Given the description of an element on the screen output the (x, y) to click on. 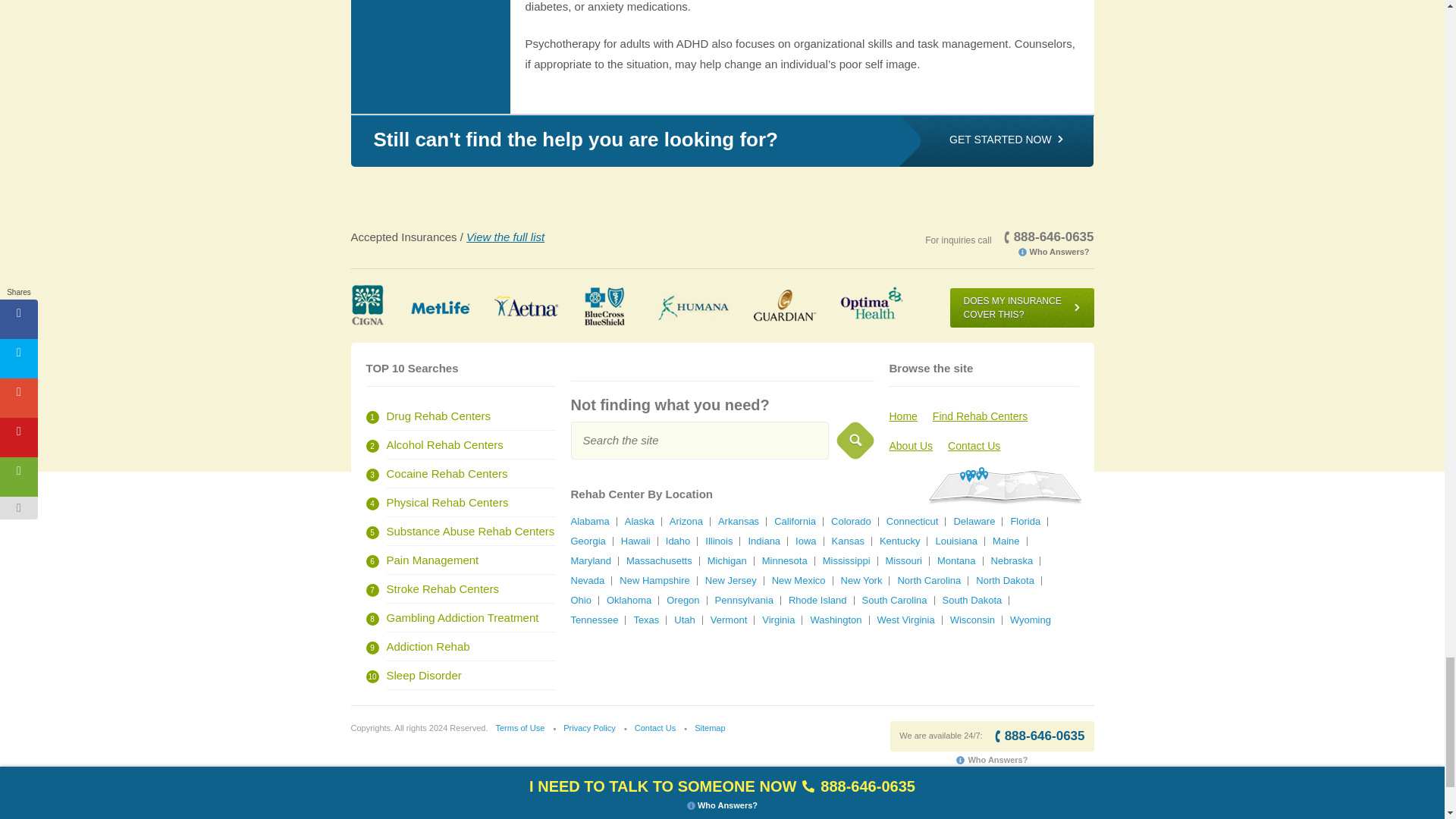
Alabama Rehab Centers (589, 521)
Arkansas Rehab Centers (737, 521)
Idaho Rehab Centers (677, 541)
Florida Rehab Centers (1025, 521)
Delaware Rehab Centers (973, 521)
Hawaii Rehab Centers (635, 541)
Colorado Rehab Centers (850, 521)
Alaska Rehab Centers (638, 521)
Georgia Rehab Centers (587, 541)
Arizona Rehab Centers (686, 521)
Connecticut Rehab Centers (912, 521)
California Rehab Centers (794, 521)
